Given the description of an element on the screen output the (x, y) to click on. 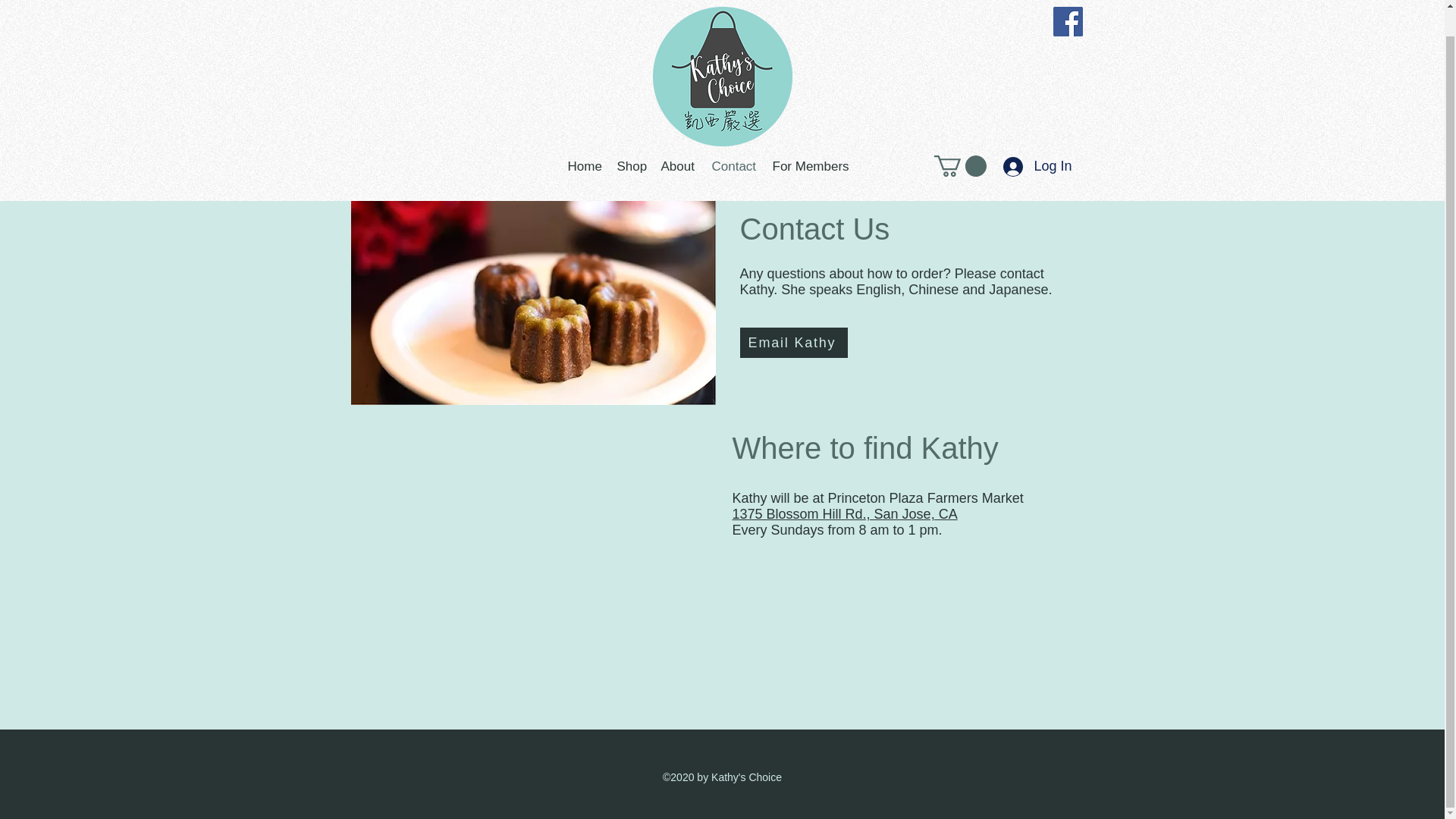
Home (583, 139)
About (678, 139)
Email Kathy (793, 342)
1375 Blossom Hill Rd., San Jose, CA (845, 513)
Contact (733, 139)
Shop (631, 139)
logo-web-2.png (722, 59)
For Members (809, 139)
Log In (1036, 140)
